Given the description of an element on the screen output the (x, y) to click on. 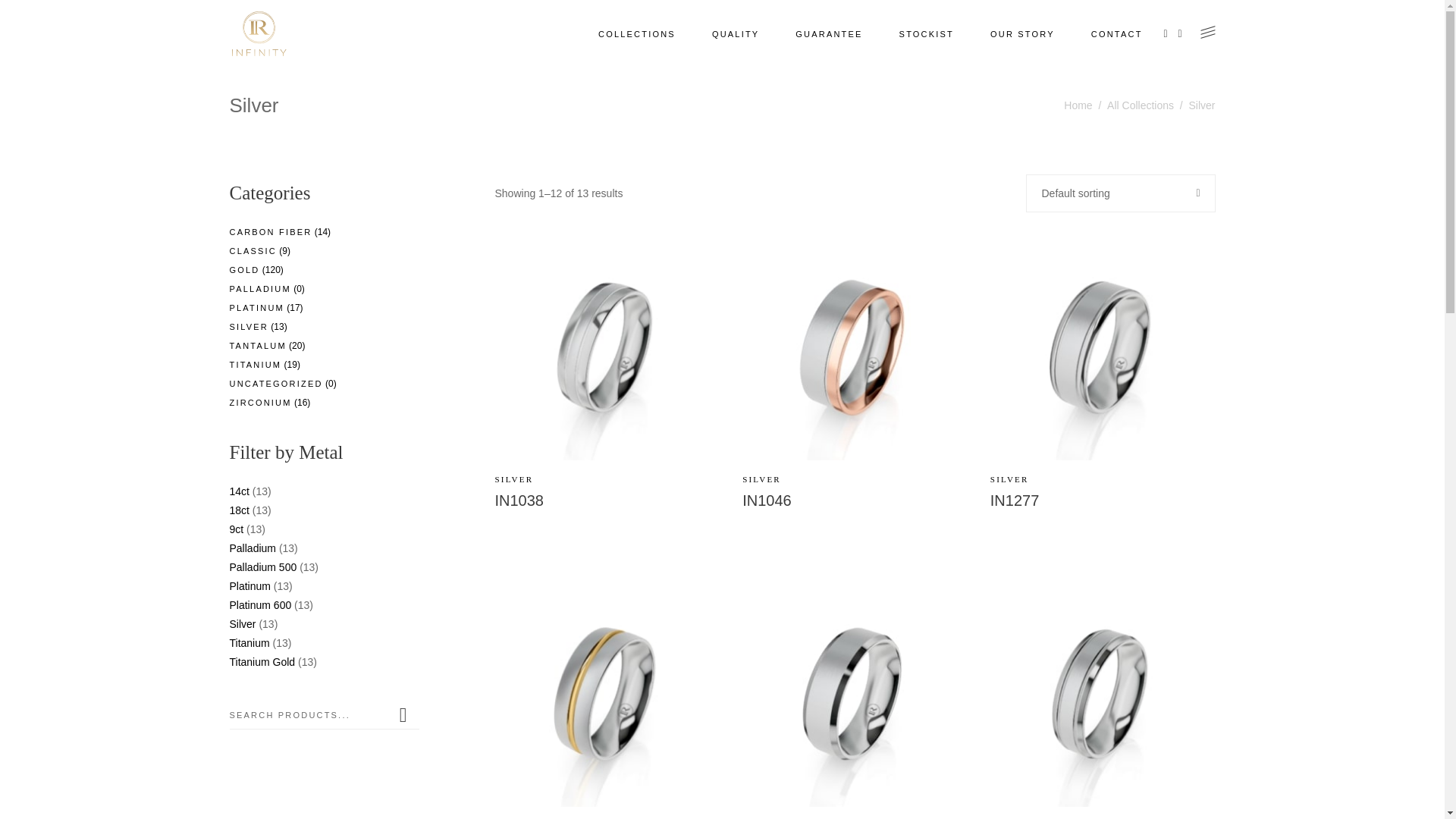
SILVER Element type: text (248, 326)
Home Element type: text (1077, 106)
14ct Element type: text (238, 491)
PLATINUM Element type: text (256, 307)
TANTALUM Element type: text (257, 345)
GUARANTEE Element type: text (828, 34)
Platinum Element type: text (249, 586)
Silver Element type: text (242, 624)
Titanium Element type: text (249, 643)
ZIRCONIUM Element type: text (260, 402)
Platinum 600 Element type: text (260, 605)
IN1277 Element type: text (1014, 500)
UNCATEGORIZED Element type: text (275, 383)
CARBON FIBER Element type: text (270, 231)
Search for: Element type: hover (310, 714)
QUALITY Element type: text (735, 34)
CONTACT Element type: text (1117, 34)
All Collections Element type: text (1140, 106)
GOLD Element type: text (244, 269)
18ct Element type: text (238, 510)
CLASSIC Element type: text (252, 250)
SILVER Element type: text (513, 478)
Titanium Gold Element type: text (261, 661)
Palladium 500 Element type: text (262, 567)
IN1038 Element type: text (518, 500)
Palladium Element type: text (252, 548)
PALLADIUM Element type: text (259, 288)
COLLECTIONS Element type: text (636, 34)
IN1046 Element type: text (766, 500)
STOCKIST Element type: text (926, 34)
TITANIUM Element type: text (255, 364)
9ct Element type: text (236, 529)
OUR STORY Element type: text (1022, 34)
SILVER Element type: text (1009, 478)
SILVER Element type: text (761, 478)
